Given the description of an element on the screen output the (x, y) to click on. 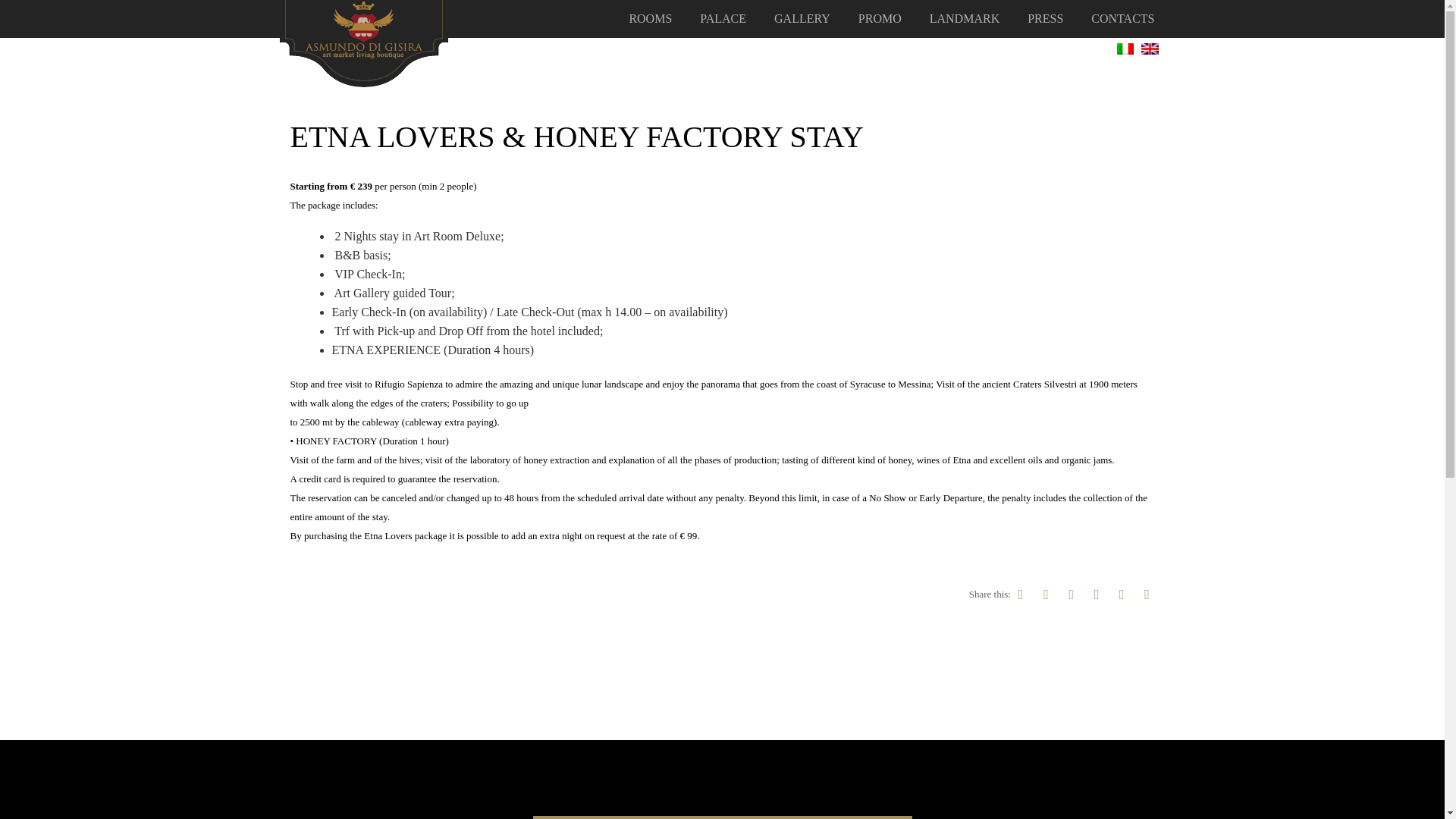
PROMO (880, 19)
LANDMARK (964, 19)
PALACE (722, 19)
PRESS (1044, 19)
ROOMS (649, 19)
GALLERY (801, 19)
CONTACTS (1122, 19)
